Given the description of an element on the screen output the (x, y) to click on. 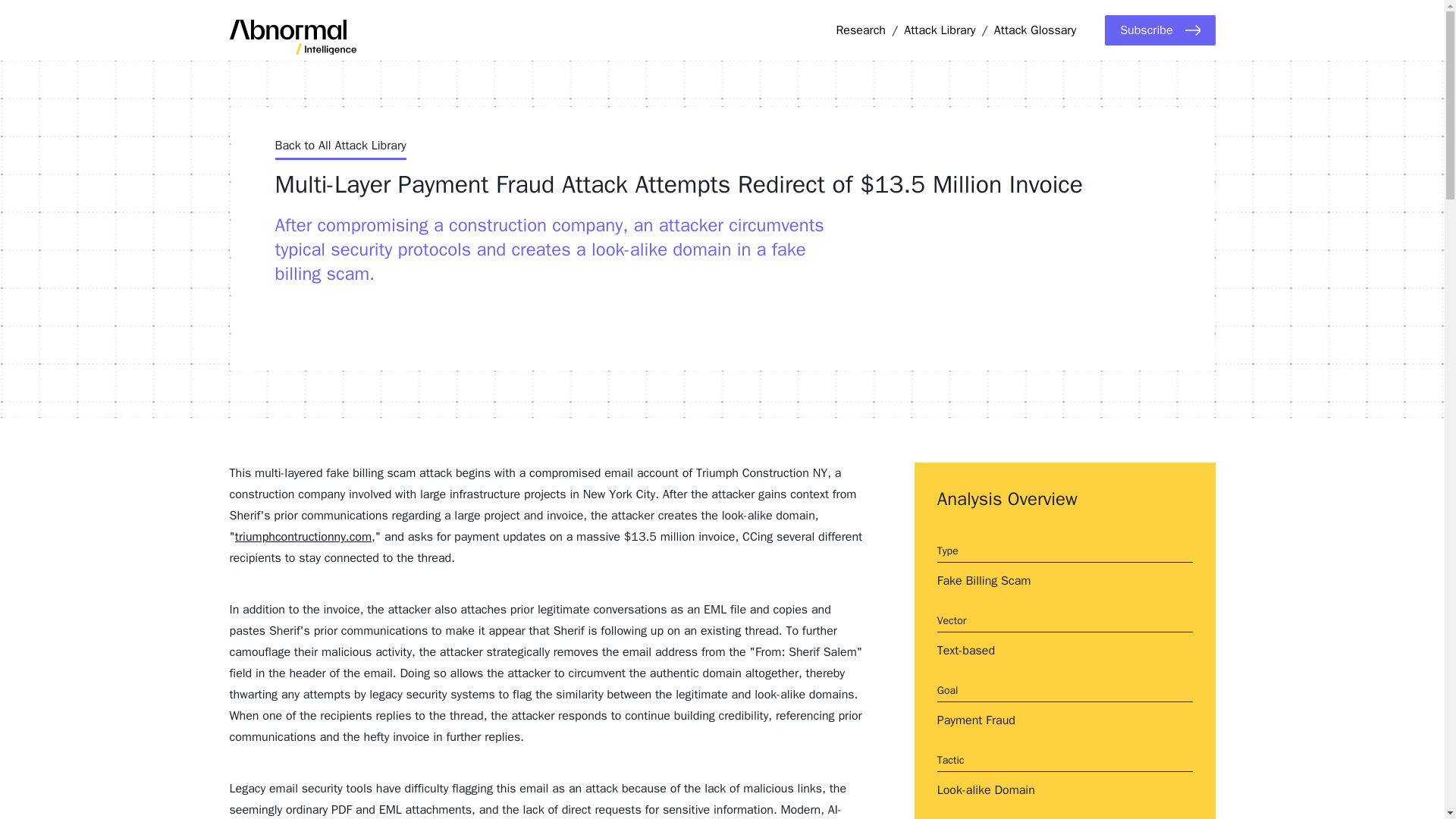
Fake Billing Scam (983, 580)
Attack Glossary (1034, 30)
triumphcontructionny.com (302, 536)
Back to All Attack Library (340, 147)
Research (860, 30)
Attack Library (939, 30)
